Given the description of an element on the screen output the (x, y) to click on. 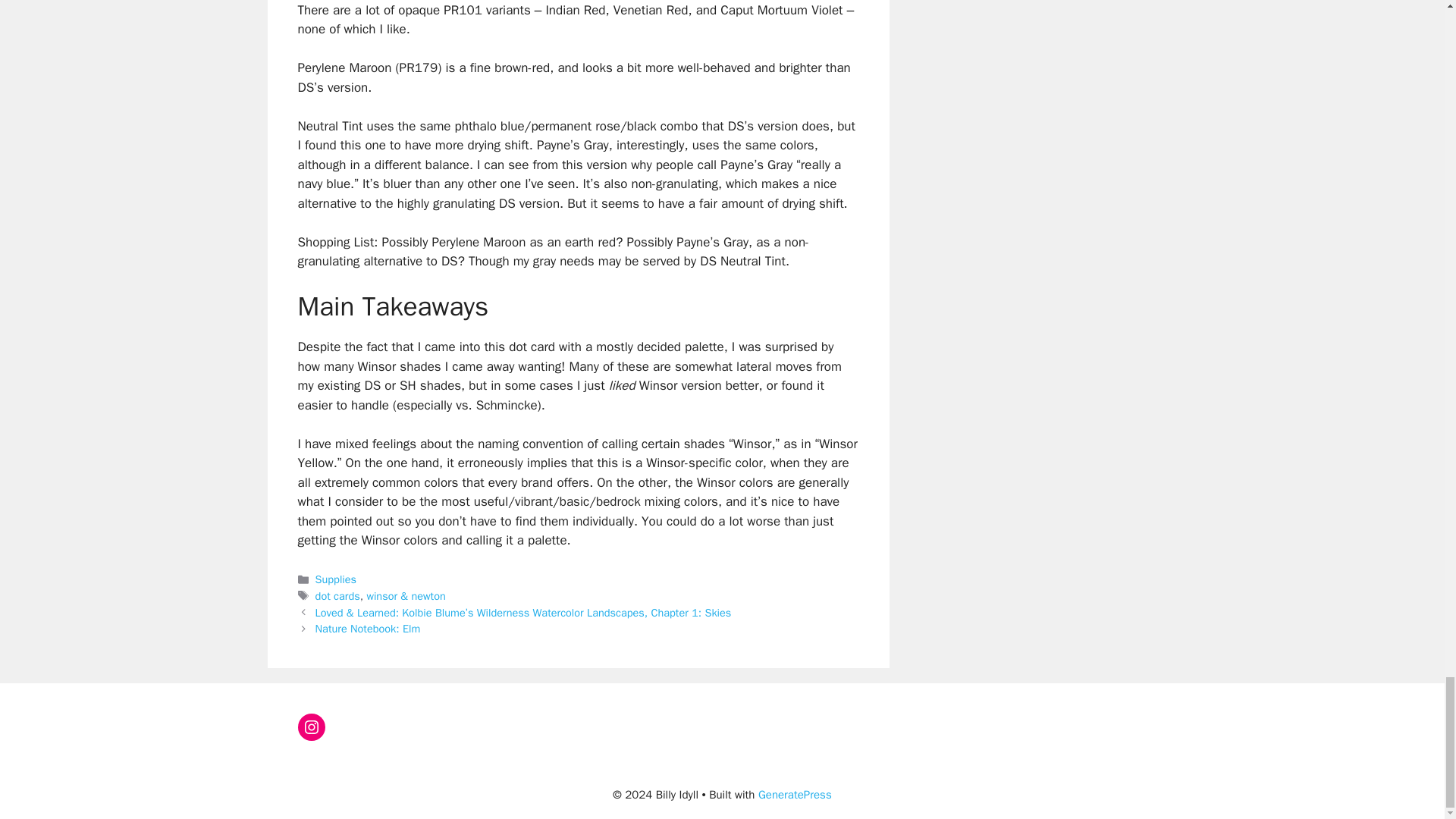
GeneratePress (794, 794)
Supplies (335, 579)
Instagram (310, 727)
Nature Notebook: Elm (367, 628)
dot cards (337, 595)
